Given the description of an element on the screen output the (x, y) to click on. 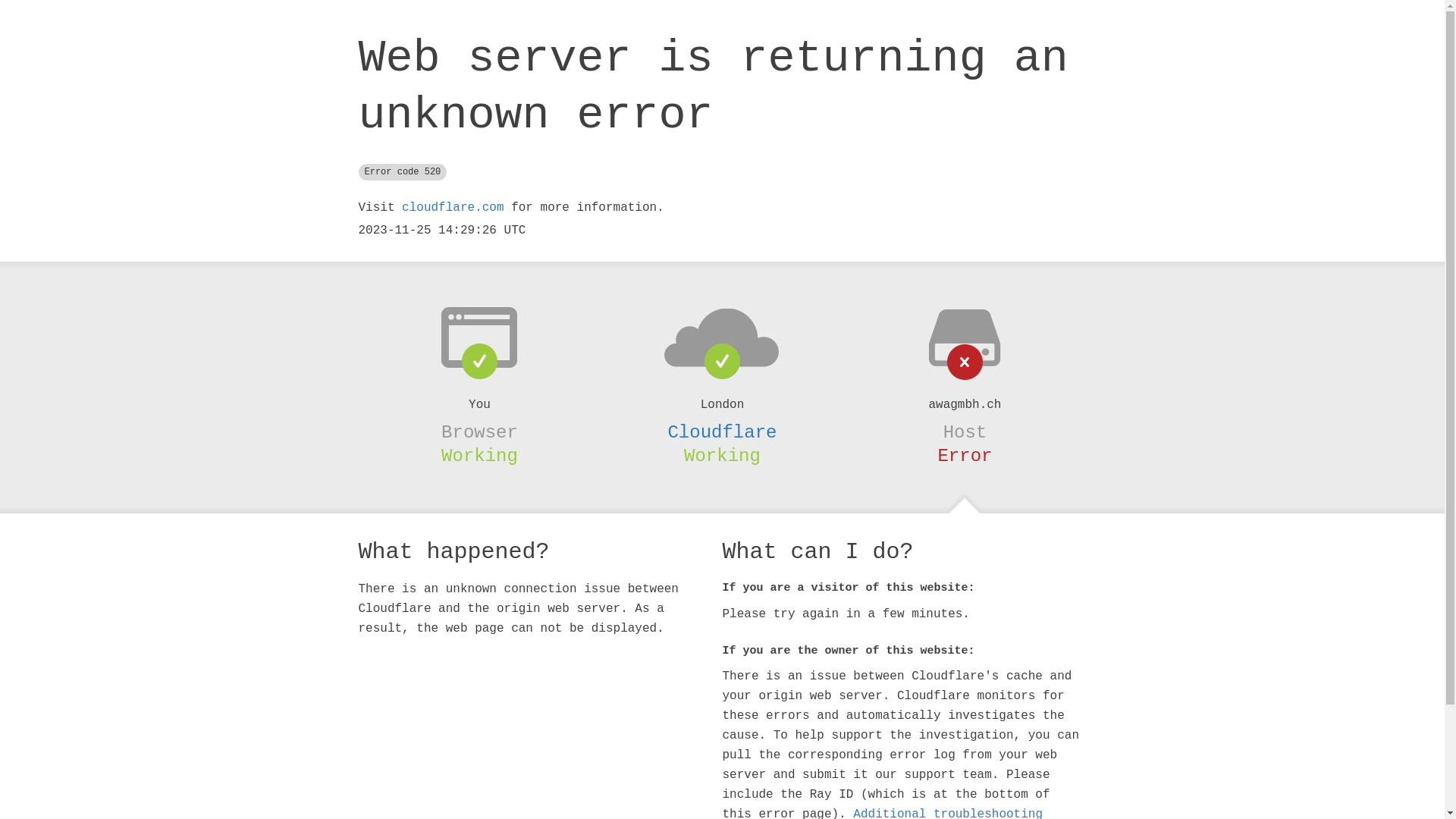
Cloudflare Element type: text (721, 432)
cloudflare.com Element type: text (452, 207)
